Given the description of an element on the screen output the (x, y) to click on. 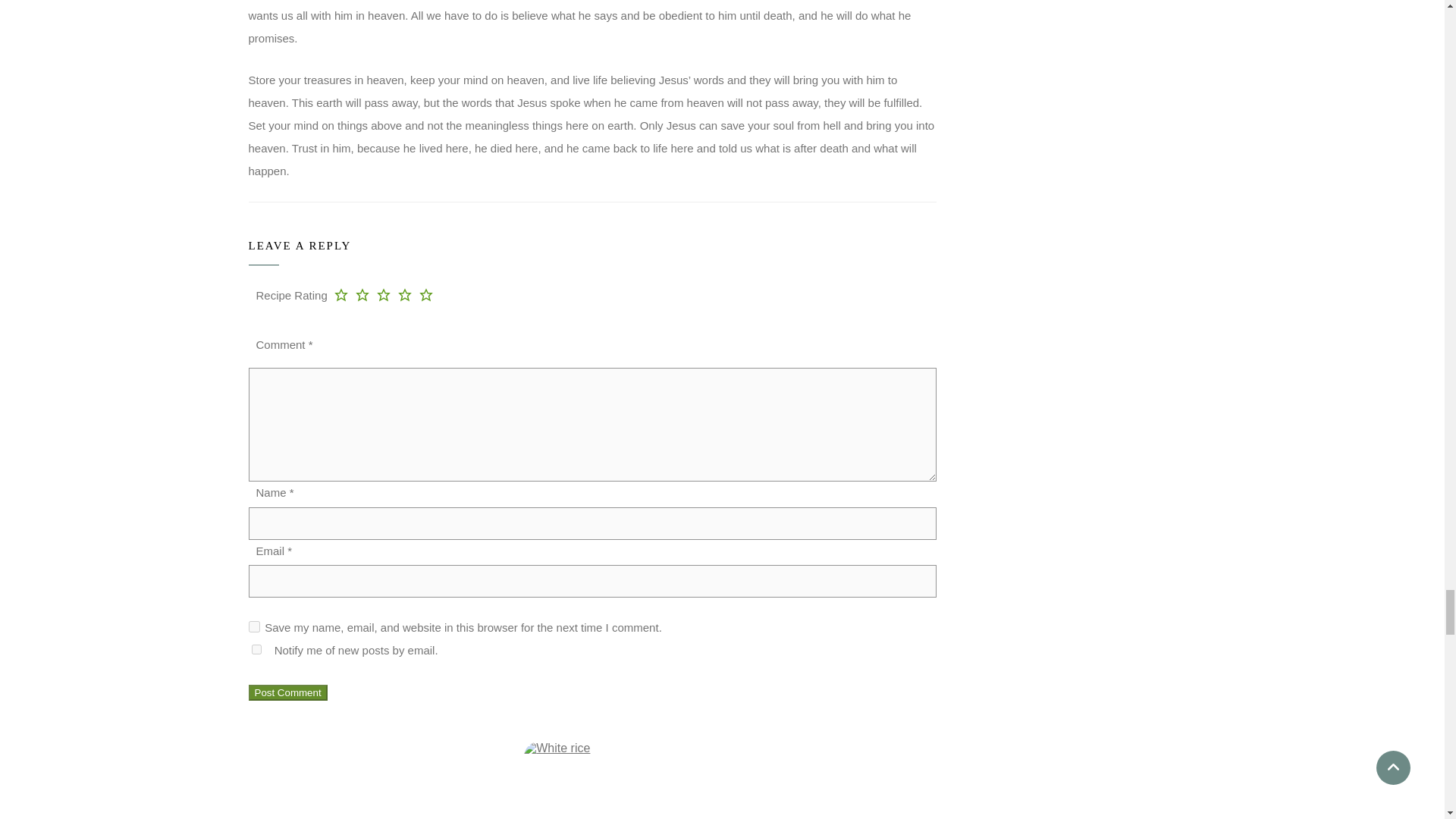
yes (254, 626)
Post Comment (287, 692)
subscribe (256, 649)
